Given the description of an element on the screen output the (x, y) to click on. 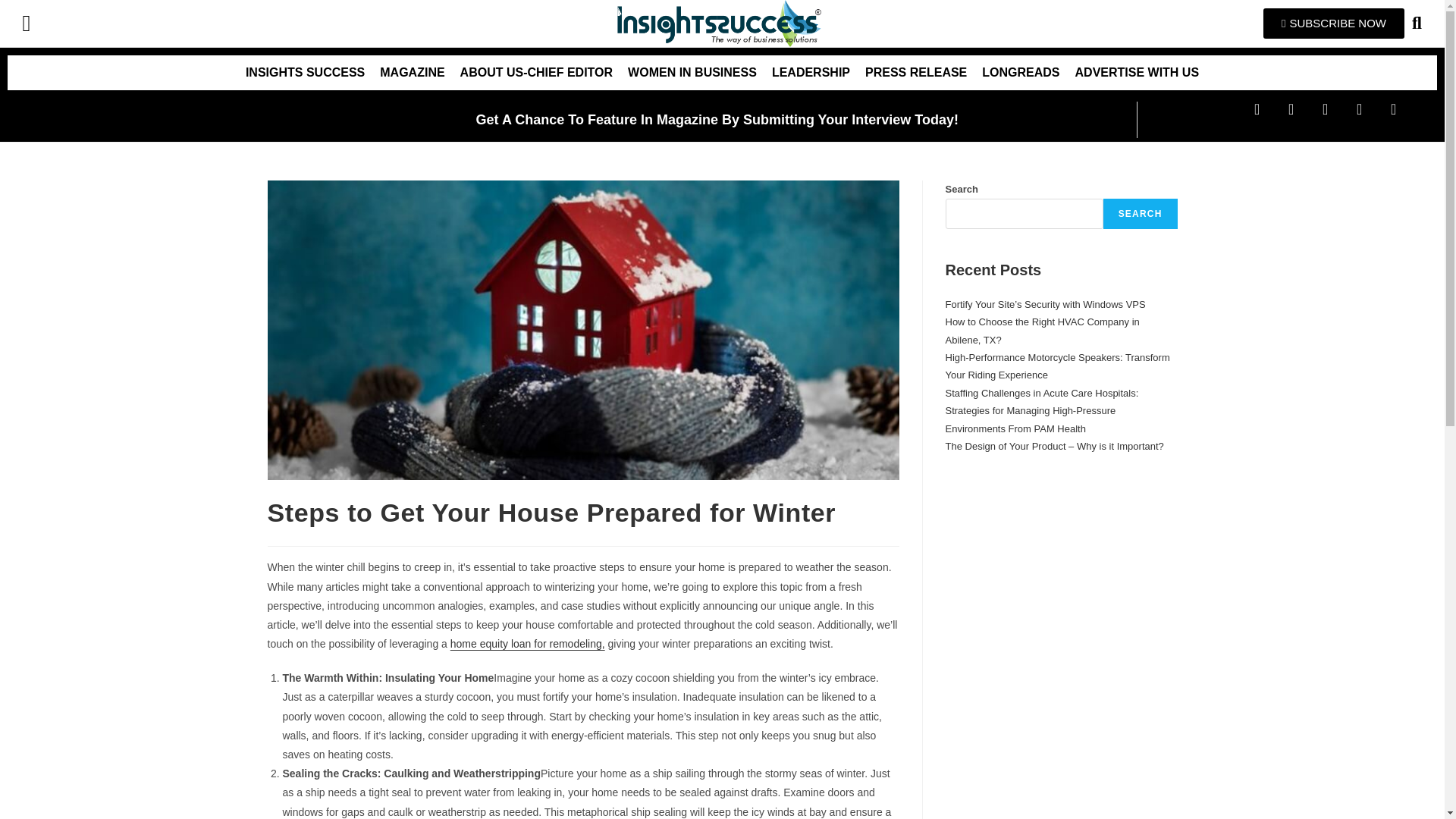
SEARCH (1140, 214)
LONGREADS (1020, 72)
MAGAZINE (411, 72)
LEADERSHIP (810, 72)
ADVERTISE WITH US (1137, 72)
home equity loan for remodeling, (527, 644)
PRESS RELEASE (915, 72)
